Given the description of an element on the screen output the (x, y) to click on. 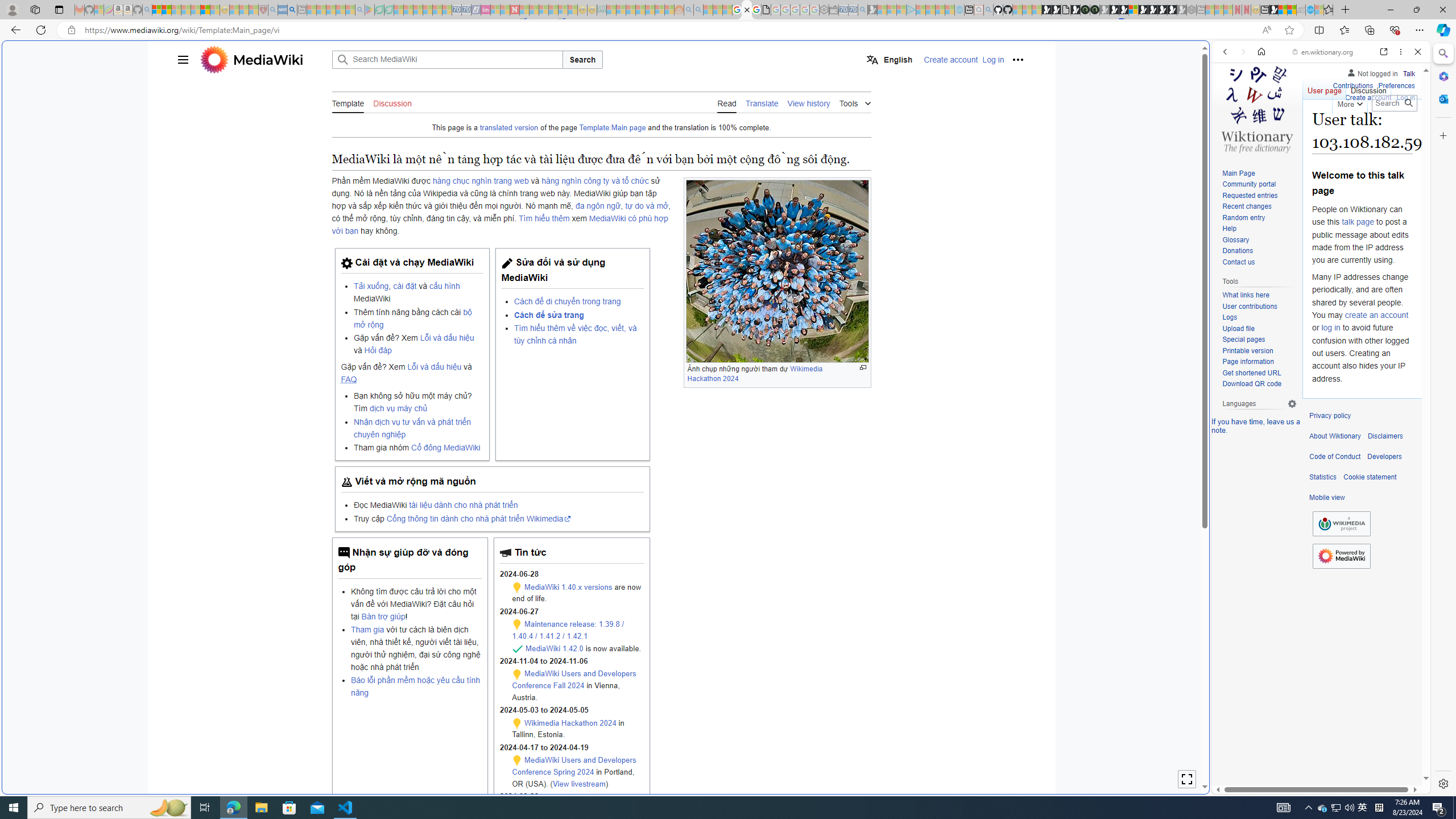
Glossary (1259, 240)
